Given the description of an element on the screen output the (x, y) to click on. 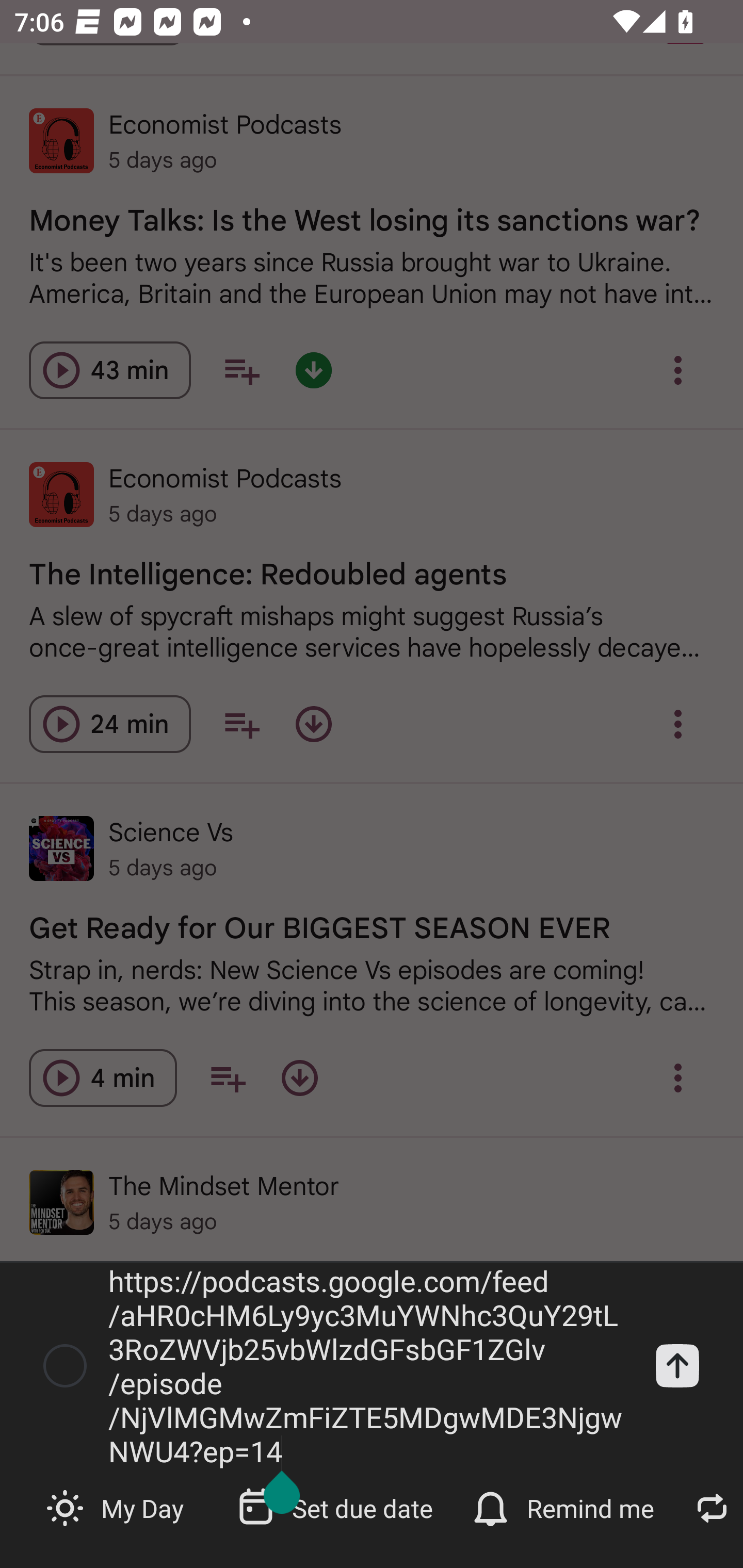
Add a task (676, 1365)
My Day (116, 1507)
Set due date (337, 1507)
Remind me (565, 1507)
